Given the description of an element on the screen output the (x, y) to click on. 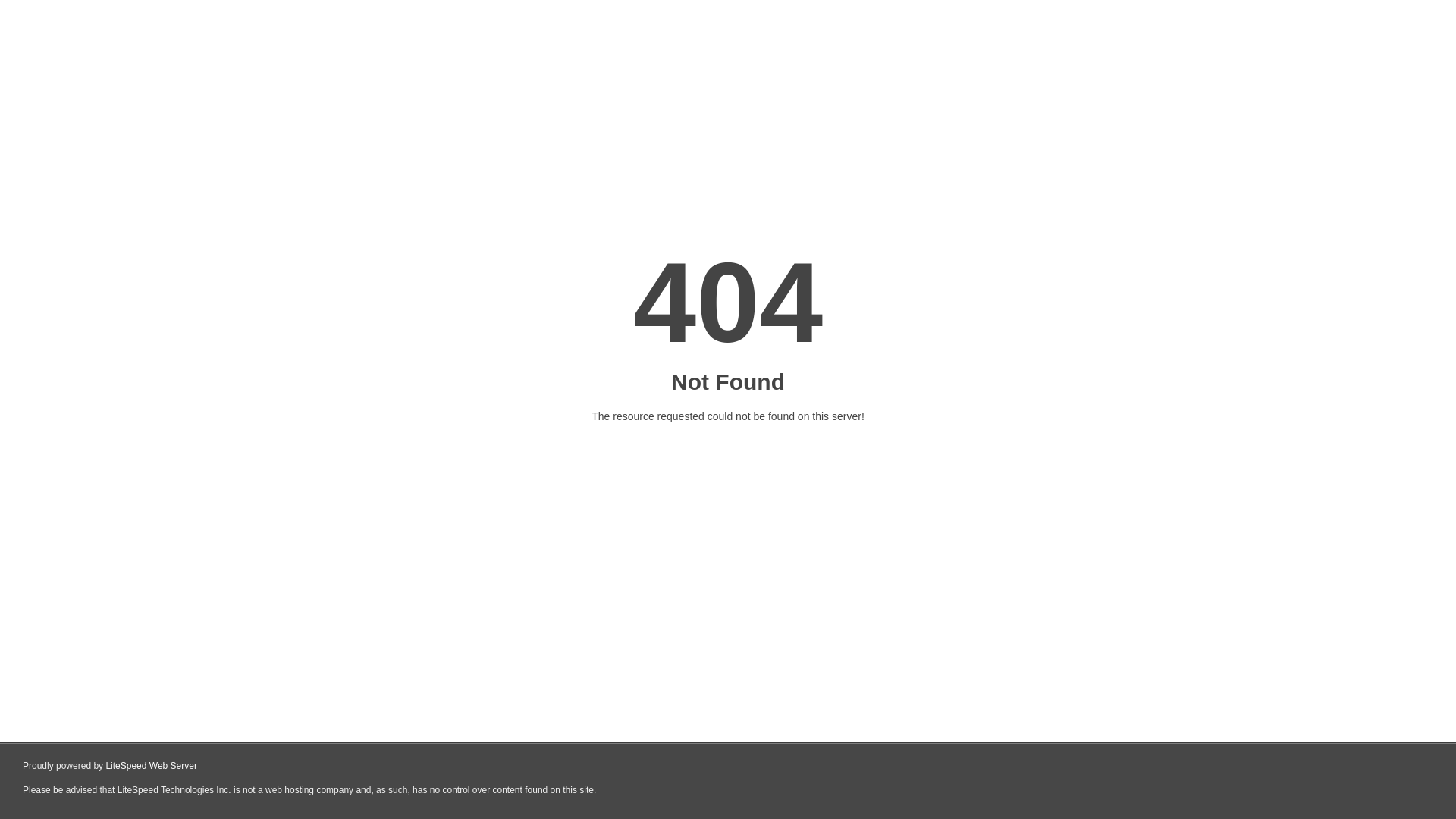
LiteSpeed Web Server Element type: text (151, 765)
